Given the description of an element on the screen output the (x, y) to click on. 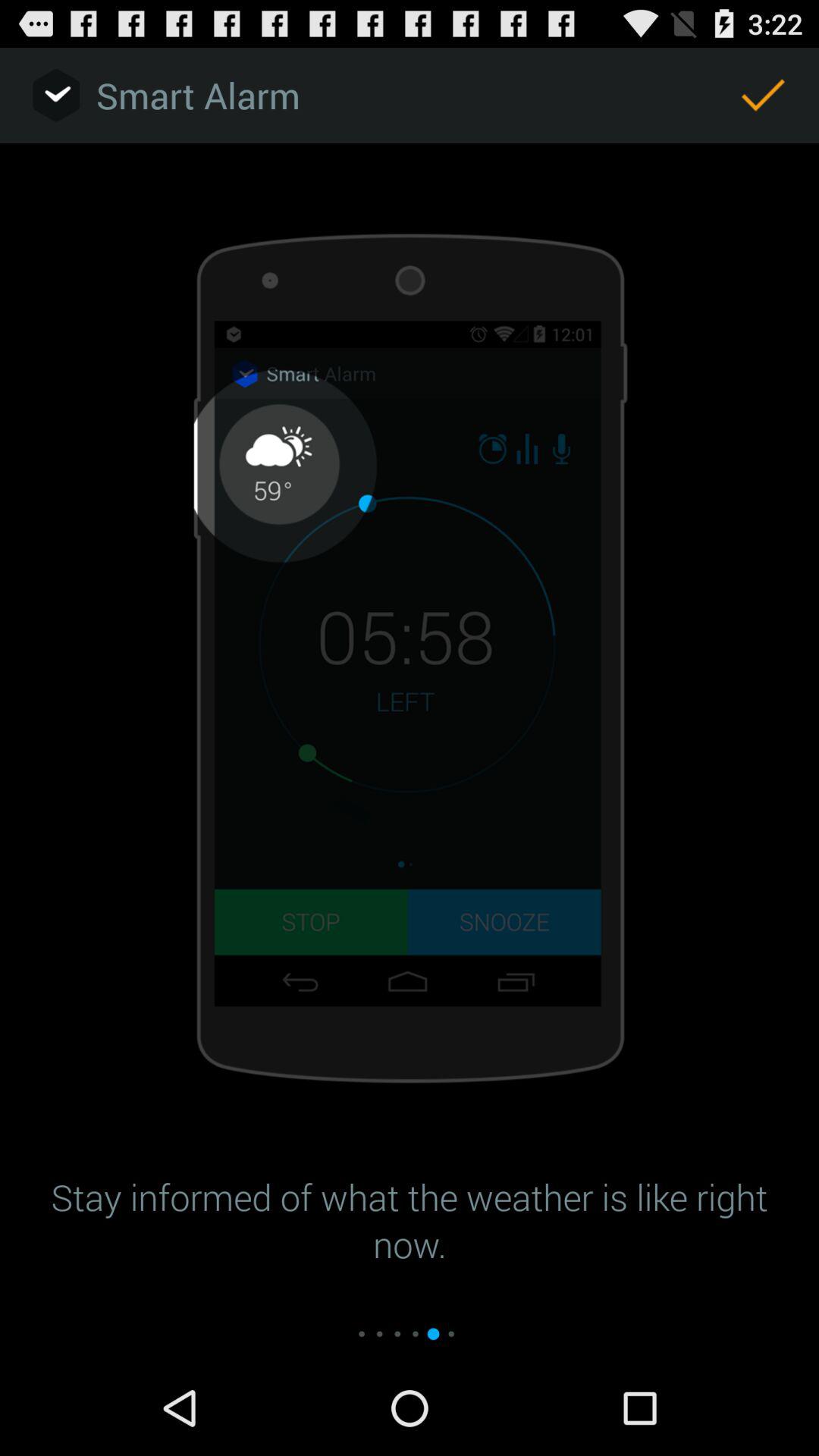
press item next to smart alarm app (763, 95)
